Given the description of an element on the screen output the (x, y) to click on. 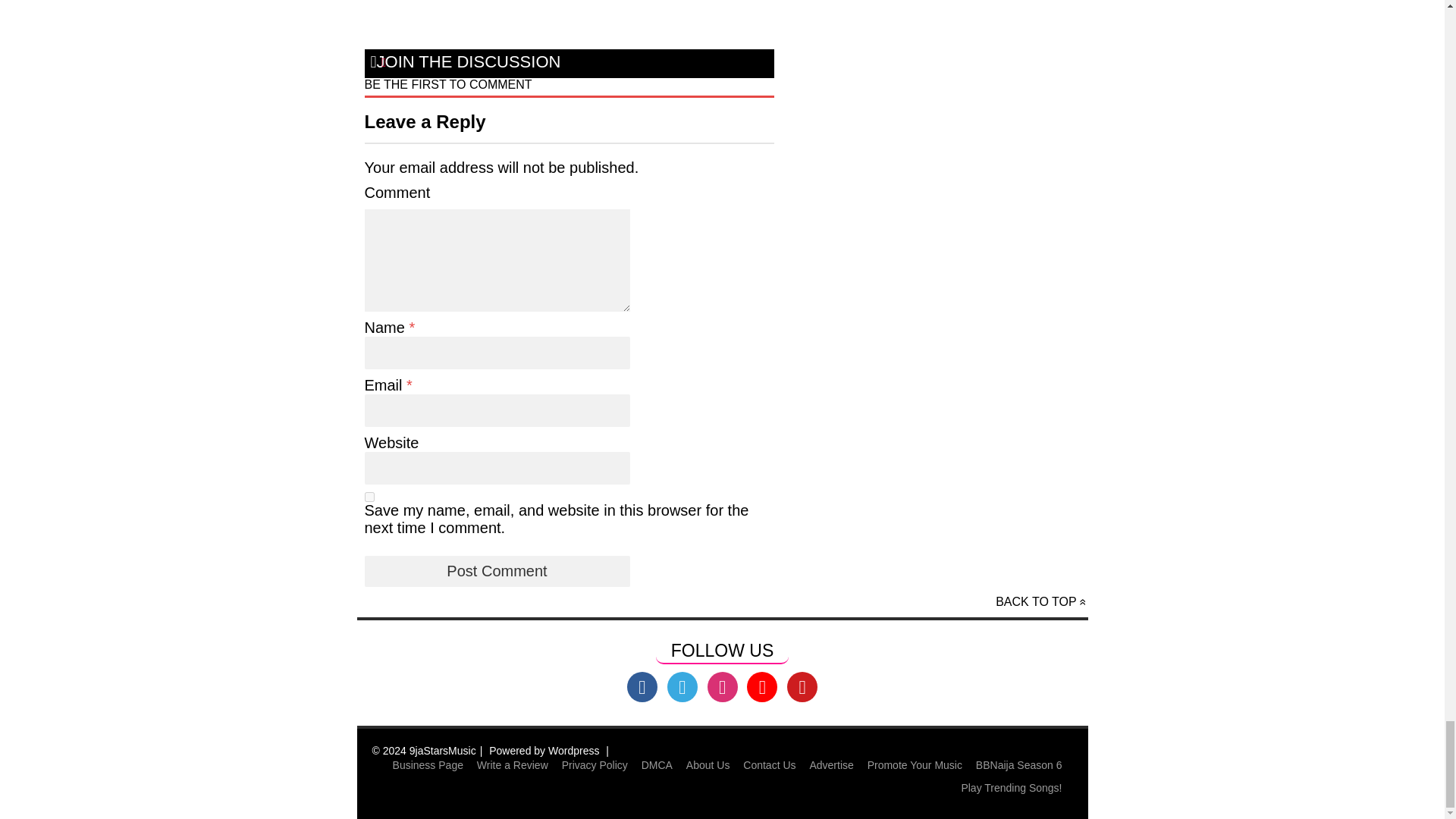
Post Comment (496, 571)
yes (369, 497)
